Given the description of an element on the screen output the (x, y) to click on. 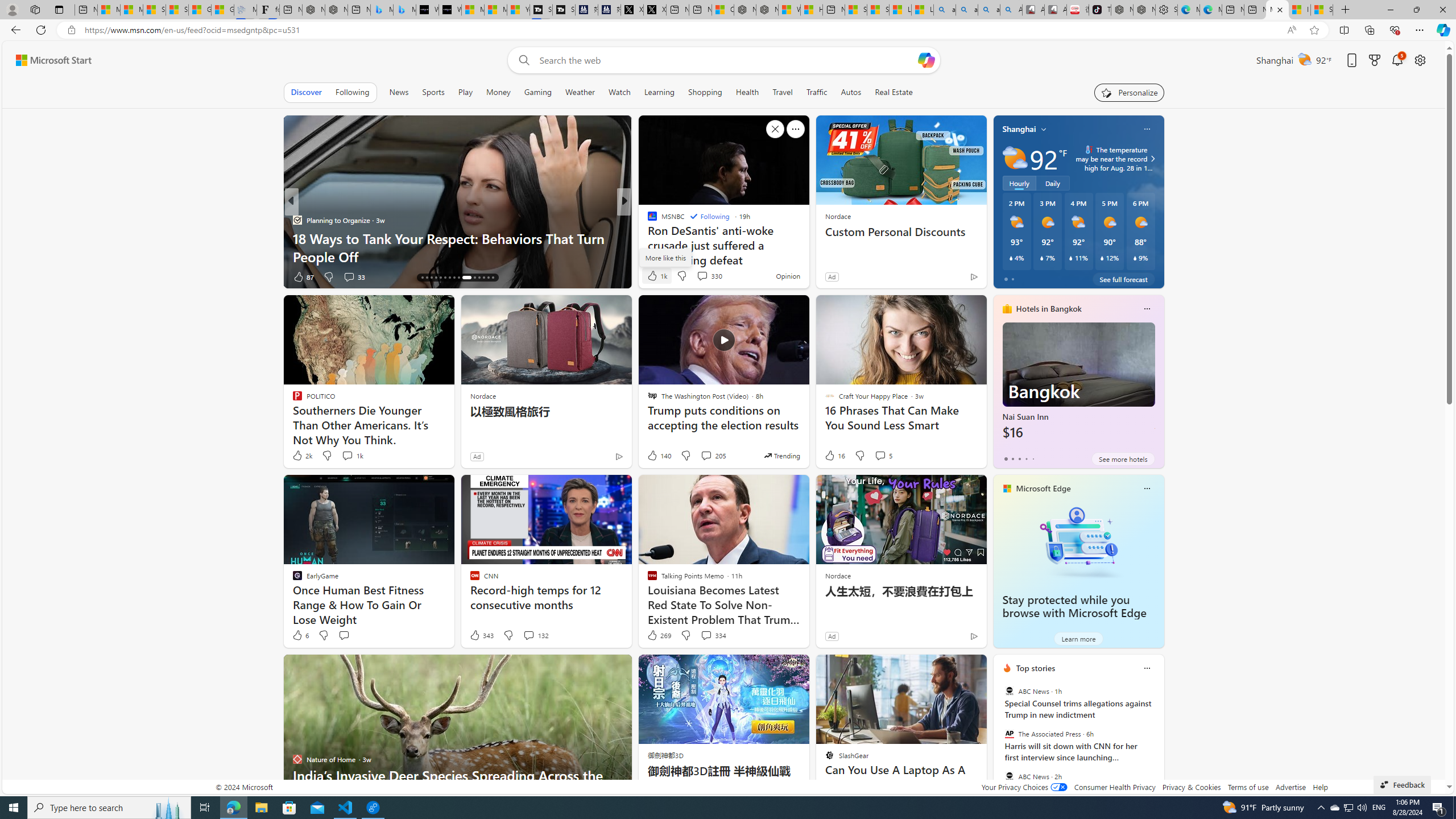
AutomationID: tab-28 (483, 277)
tab-2 (1019, 458)
Dangerous heat to head to Northeast after slamming Midwest (807, 247)
AutomationID: tab-23 (454, 277)
Autos (850, 92)
AutomationID: tab-18 (431, 277)
Autos (851, 92)
AutomationID: tab-27 (478, 277)
